Given the description of an element on the screen output the (x, y) to click on. 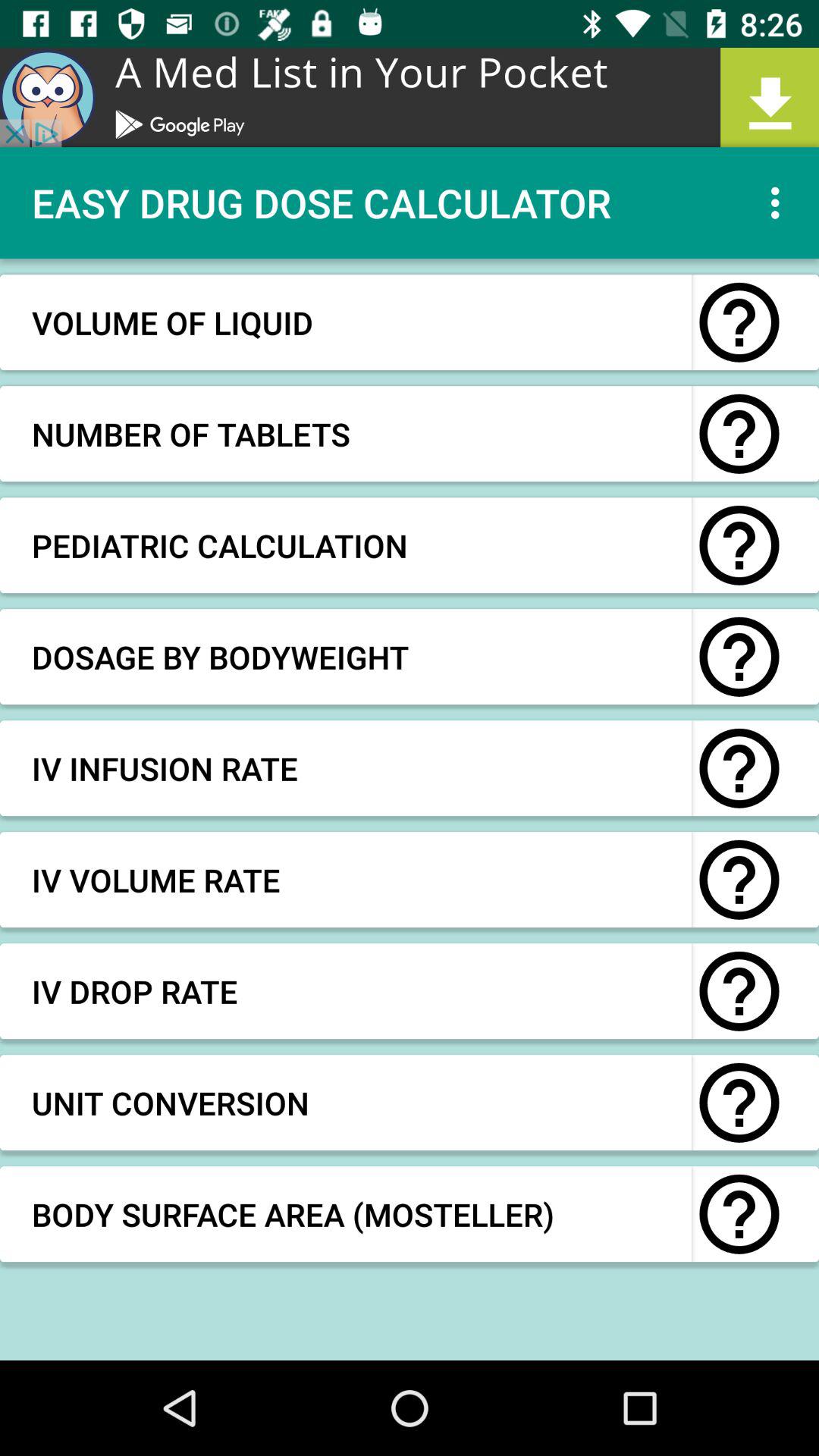
download option (409, 97)
